Given the description of an element on the screen output the (x, y) to click on. 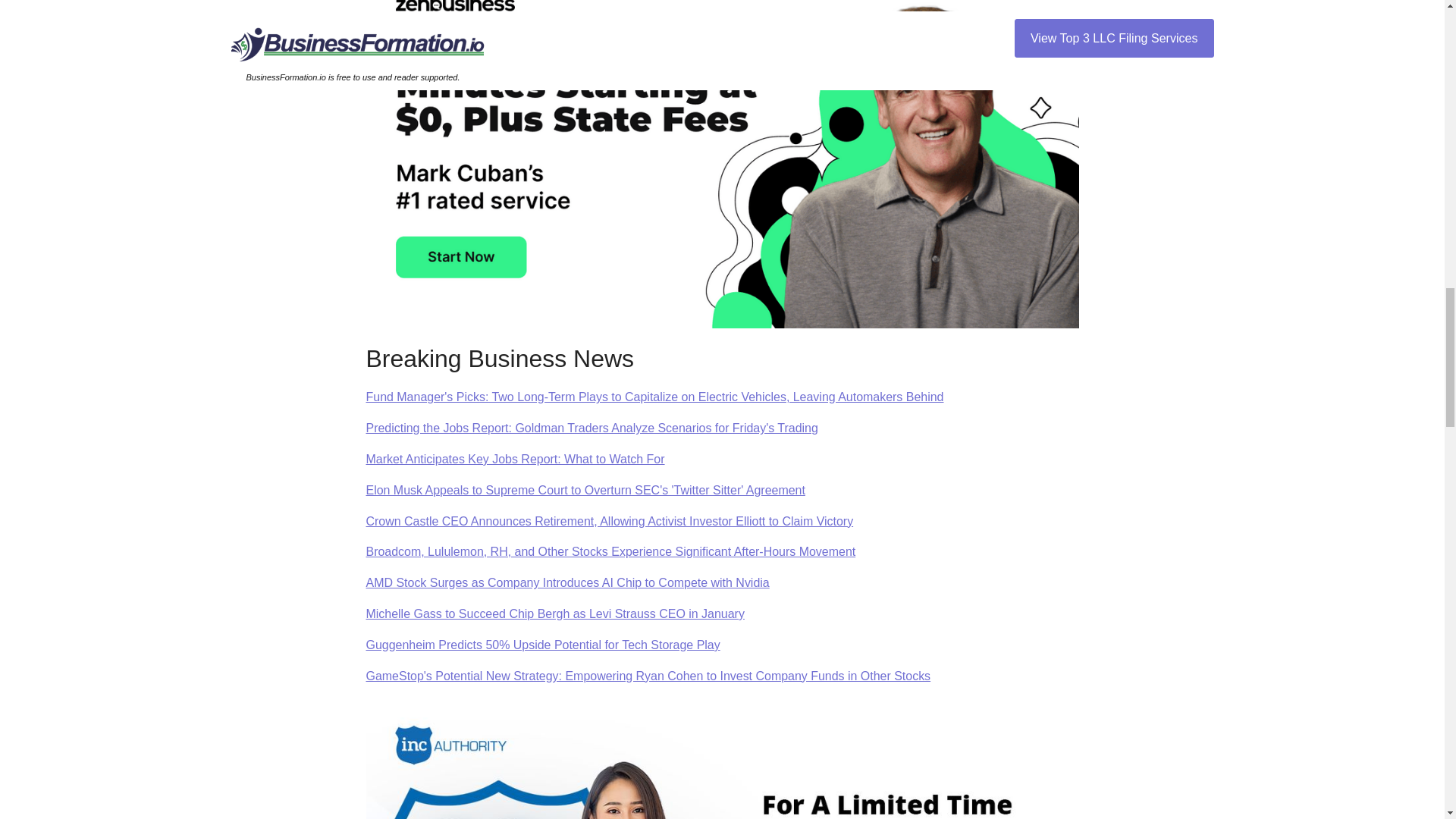
Market Anticipates Key Jobs Report: What to Watch For (514, 459)
